Given the description of an element on the screen output the (x, y) to click on. 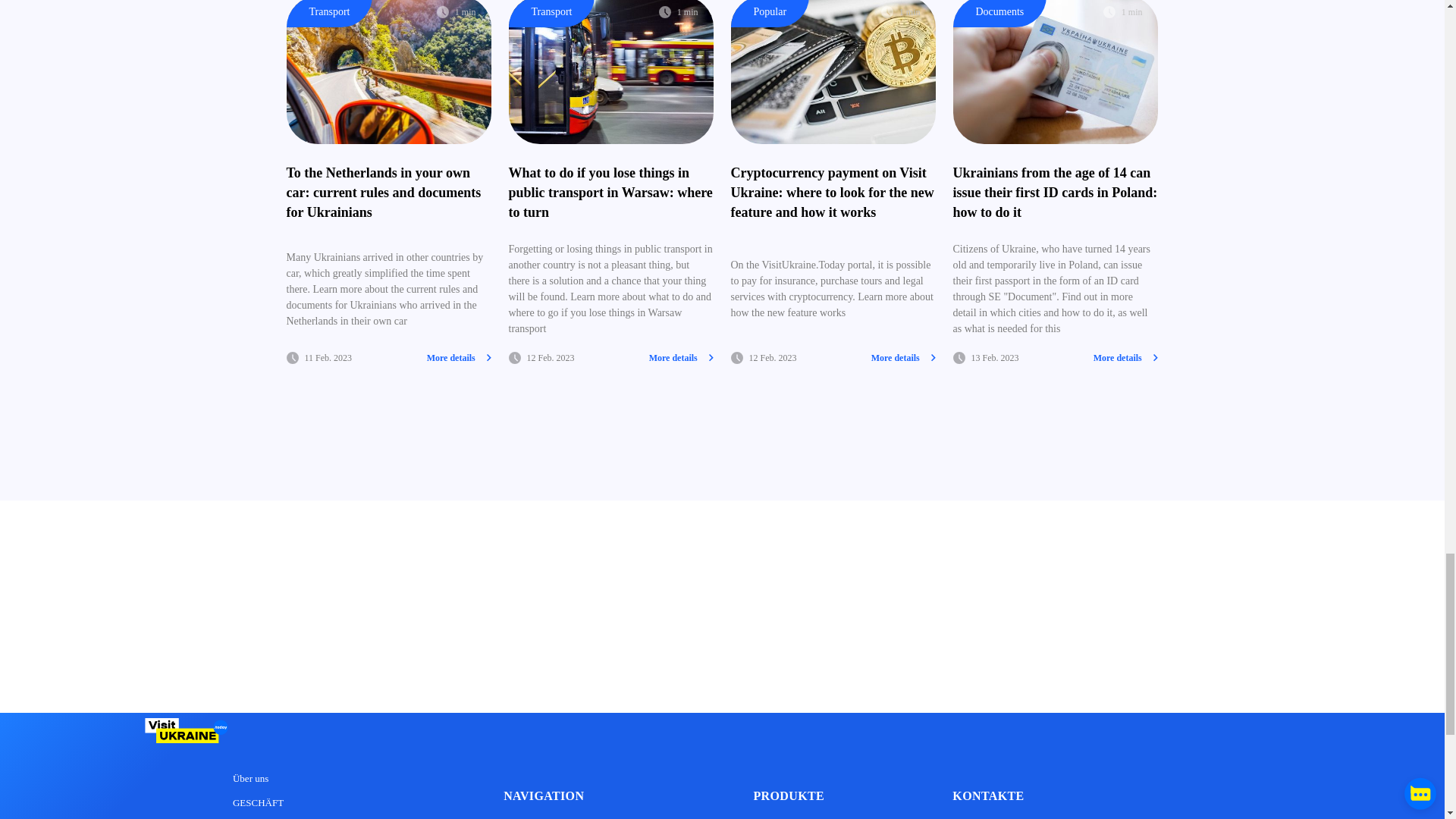
More details (1125, 357)
More details (903, 357)
More details (681, 357)
More details (459, 357)
